Given the description of an element on the screen output the (x, y) to click on. 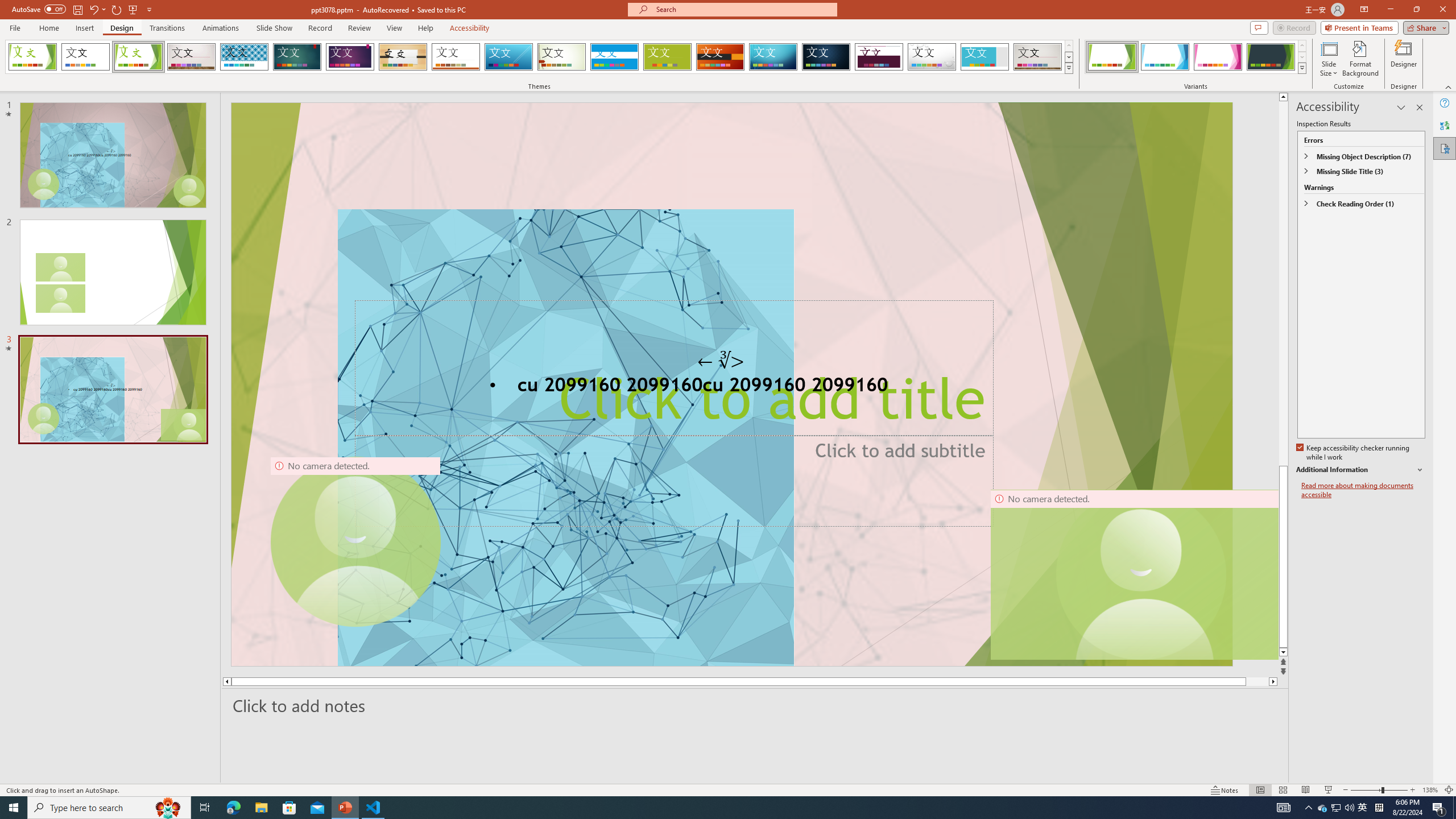
Subtitle TextBox (673, 480)
Organic (403, 56)
Facet Variant 1 (1112, 56)
AutomationID: ThemeVariantsGallery (1195, 56)
